Given the description of an element on the screen output the (x, y) to click on. 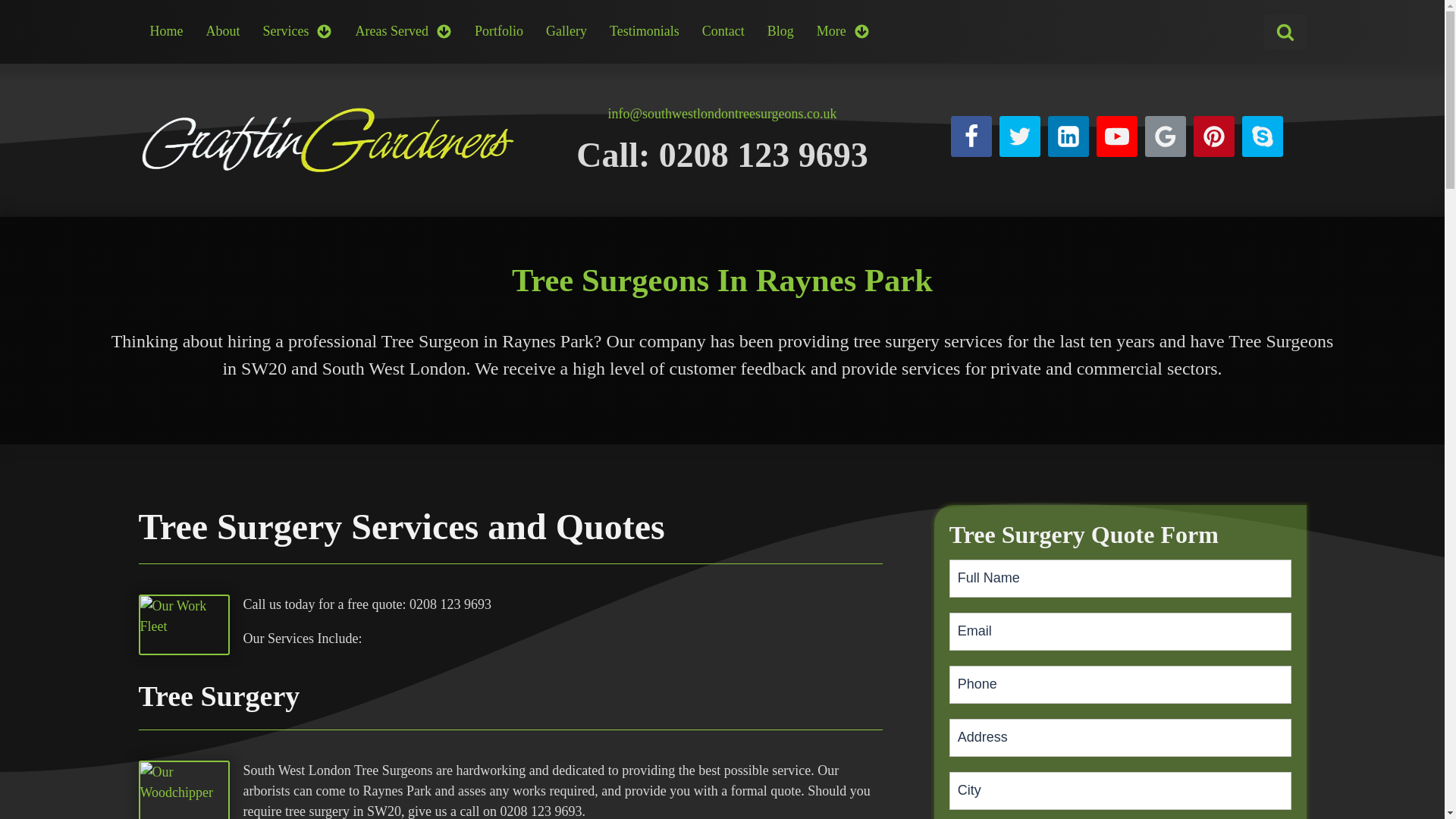
brushwood chipper small (183, 789)
Areas Served (403, 31)
graftingardeners fleet small (183, 624)
Home (165, 31)
About (221, 31)
Services (297, 31)
